Given the description of an element on the screen output the (x, y) to click on. 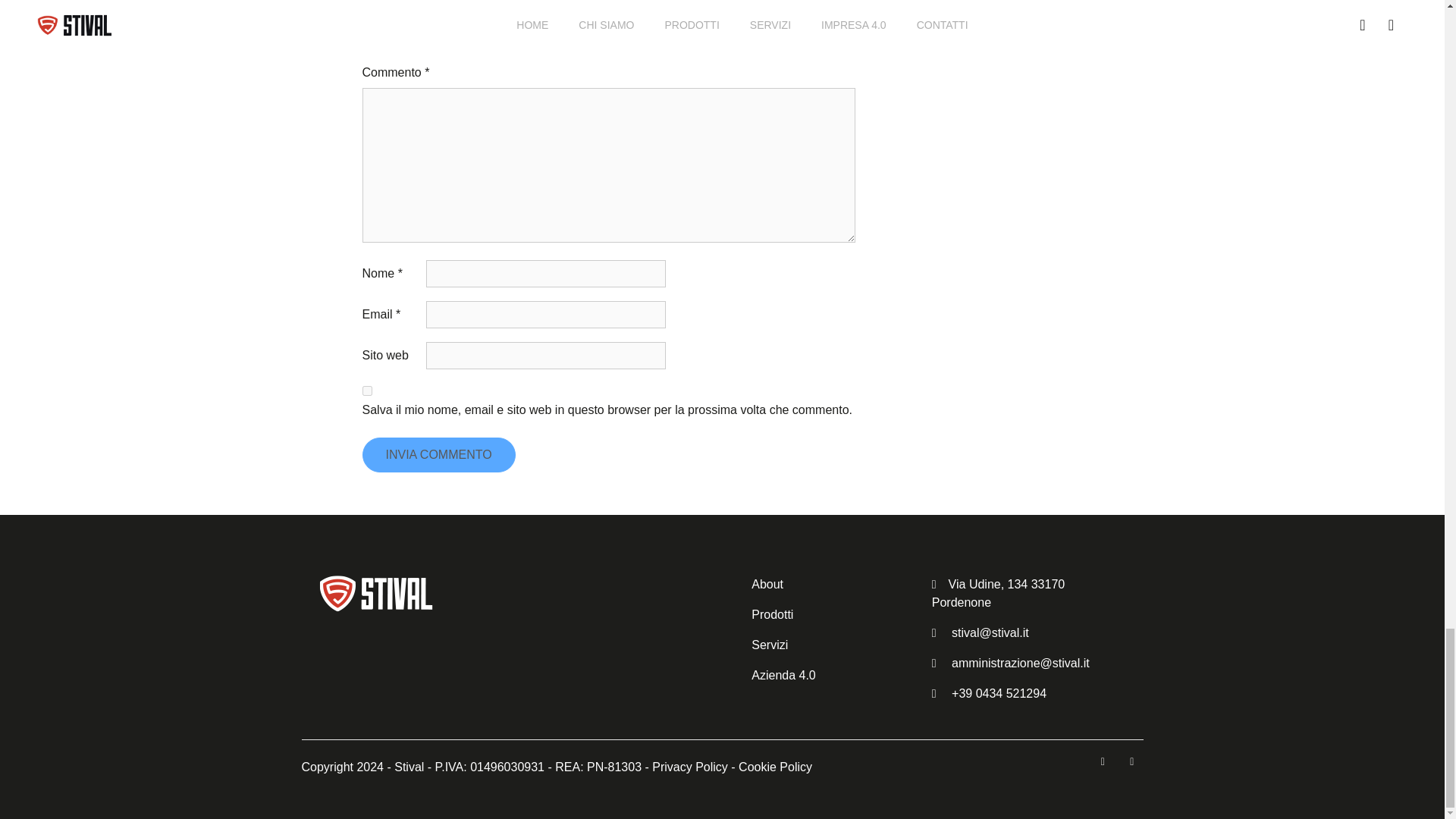
Invia commento (438, 454)
Servizi (769, 644)
yes (367, 390)
Prodotti (772, 614)
About (767, 584)
Invia commento (438, 454)
Azienda 4.0 (783, 675)
Cookie Policy (775, 766)
Privacy Policy (690, 766)
